Given the description of an element on the screen output the (x, y) to click on. 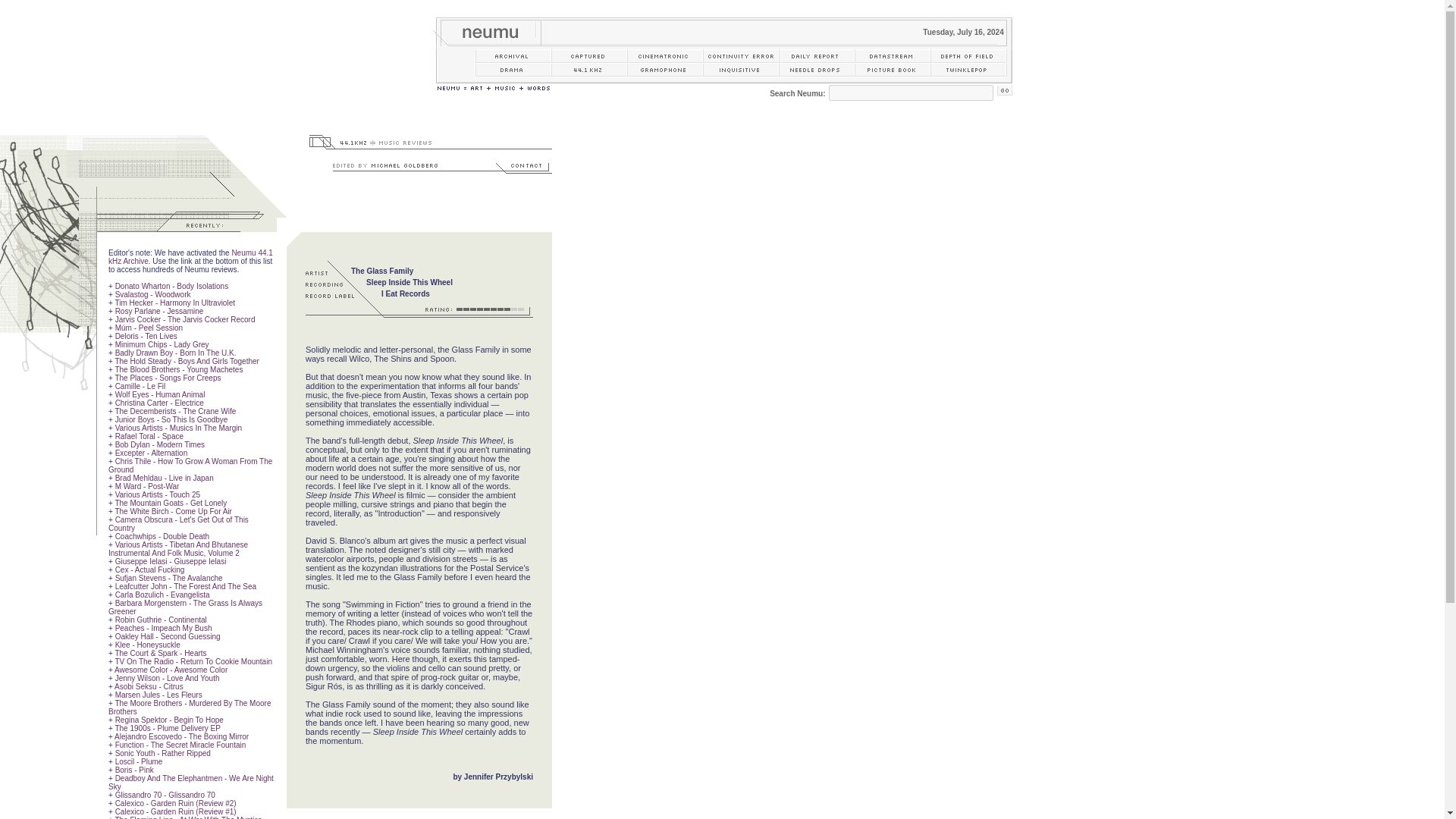
Badly Drawn Boy - Born In The U.K. (175, 352)
Rafael Toral - Space (149, 436)
Various Artists - Musics In The Margin (178, 428)
Donato Wharton - Body Isolations (171, 285)
The Hold Steady - Boys And Girls Together (187, 361)
Jarvis Cocker - The Jarvis Cocker Record (185, 319)
The Blood Brothers - Young Machetes (179, 369)
Camille - Le Fil (140, 386)
Bob Dylan - Modern Times (160, 444)
Deloris - Ten Lives (146, 336)
Neumu 44.1 kHz Archive (190, 256)
Excepter - Alternation (151, 452)
Chris Thile - How To Grow A Woman From The Ground (189, 465)
Wolf Eyes - Human Animal (160, 394)
Christina Carter - Electrice (159, 402)
